Given the description of an element on the screen output the (x, y) to click on. 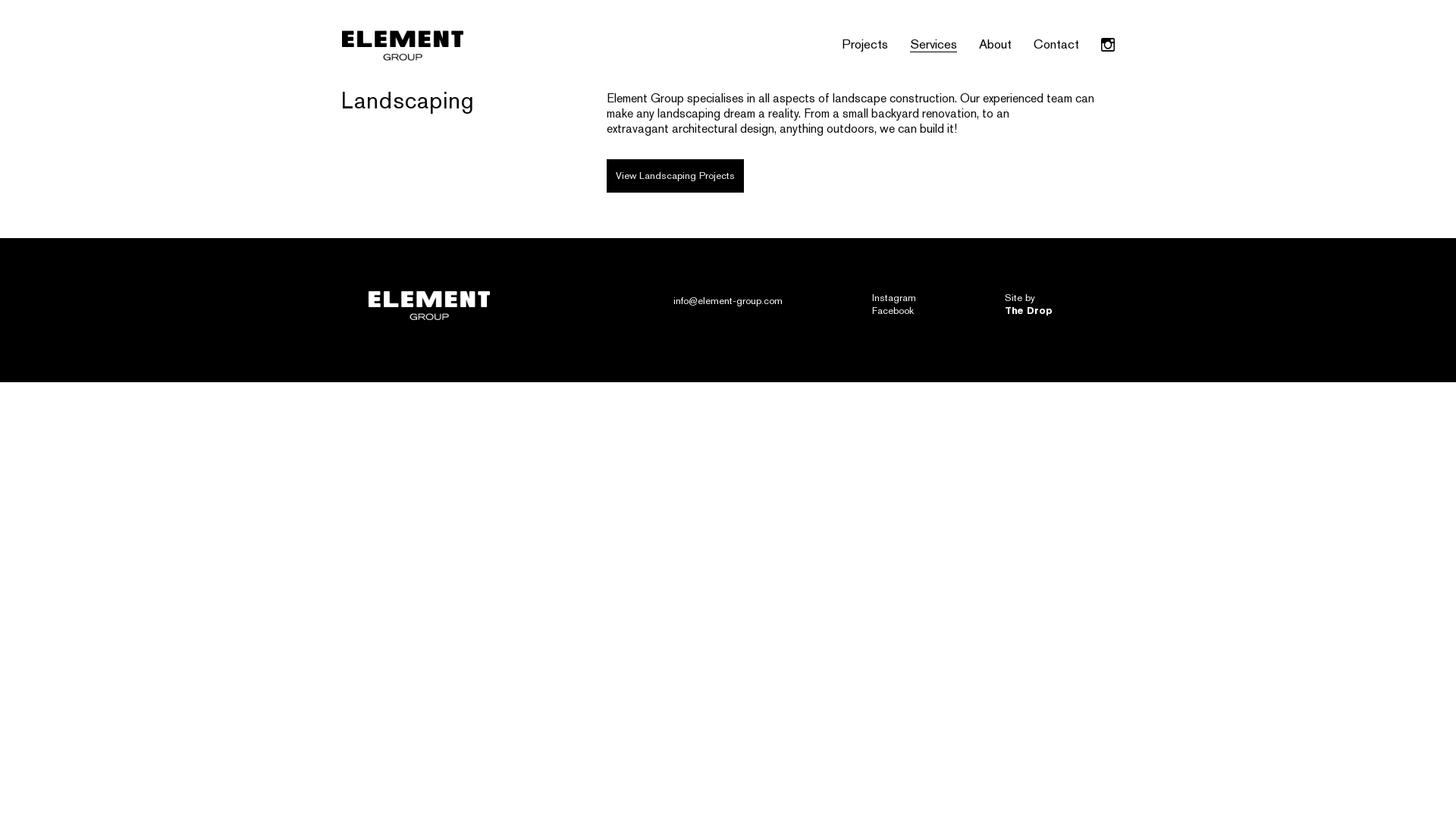
The Drop Element type: text (1028, 310)
Facebook Element type: text (892, 310)
Contact Element type: text (1056, 43)
View Landscaping Projects Element type: text (674, 175)
info@element-group.com Element type: text (727, 299)
About Element type: text (995, 43)
Services Element type: text (933, 44)
Projects Element type: text (864, 43)
Instagram Element type: text (894, 296)
